Given the description of an element on the screen output the (x, y) to click on. 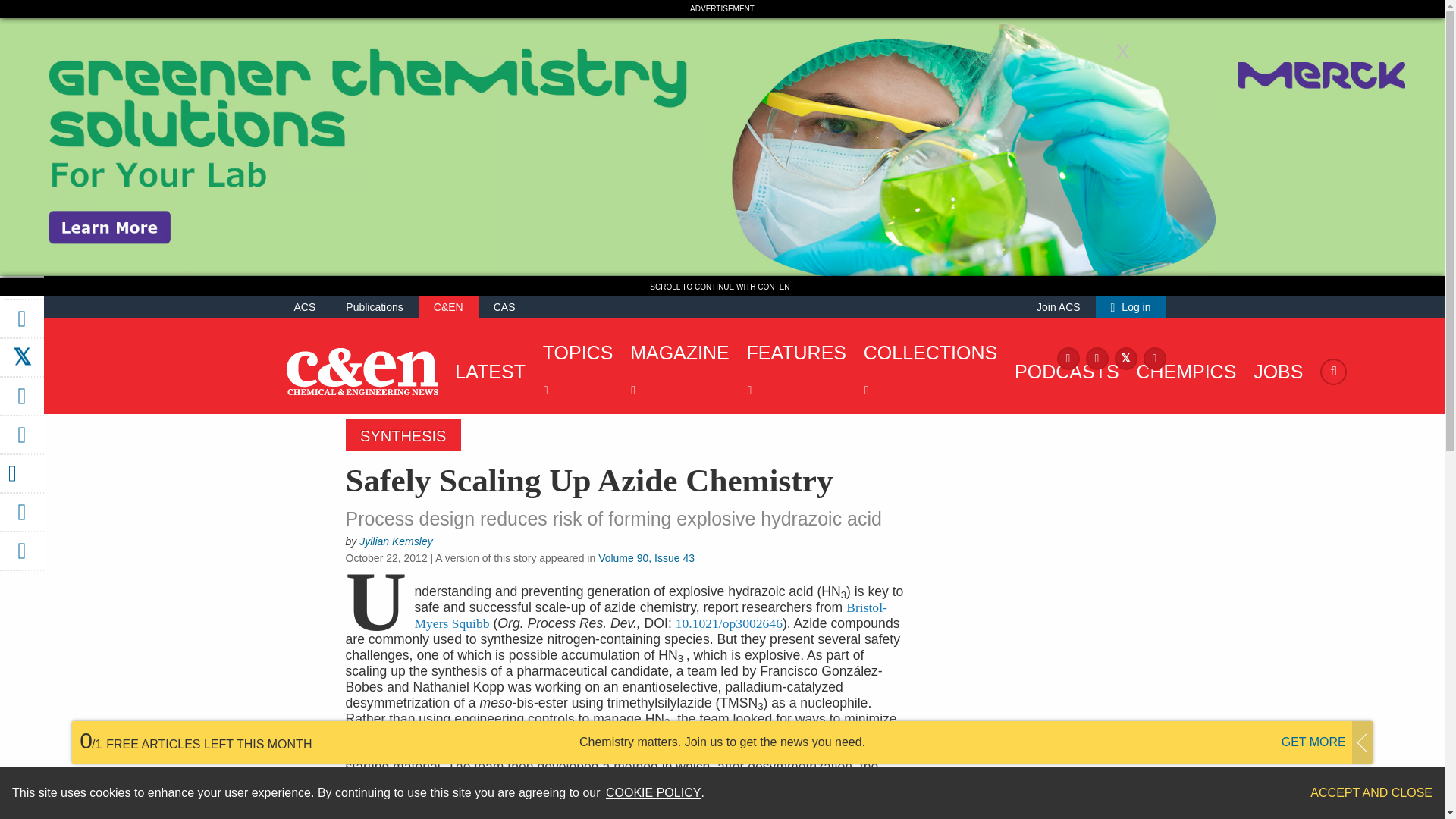
Instagram (1097, 357)
CAS (504, 306)
LATEST (485, 371)
X (1126, 357)
Publications (374, 306)
Log in (1130, 306)
Facebook (1068, 357)
Join ACS (1058, 306)
TOPICS (573, 371)
LinkedIn (1154, 357)
Scale-up of Azide Chemistry: A Case Study (729, 622)
ACS (304, 306)
BMS (649, 614)
